Given the description of an element on the screen output the (x, y) to click on. 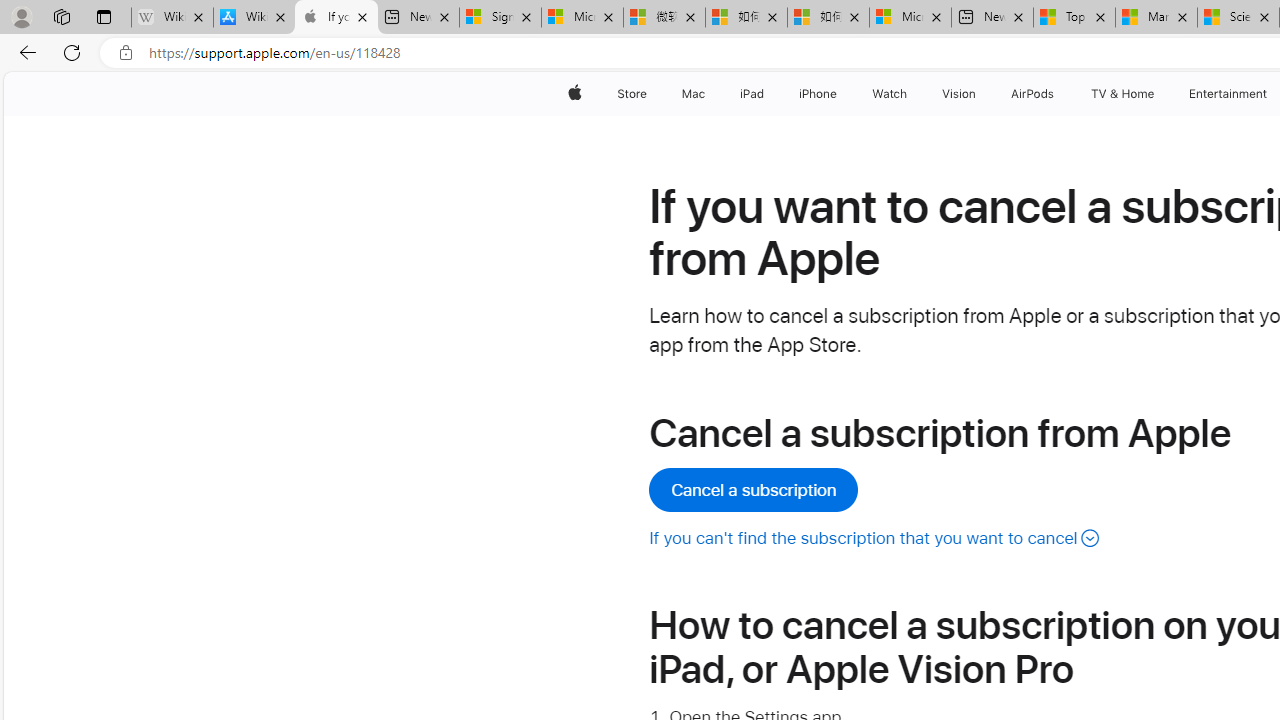
Cancel a subscription (753, 490)
AirPods (1032, 93)
Store (631, 93)
Vision menu (980, 93)
Watch menu (910, 93)
iPhone (818, 93)
AirPods (1032, 93)
Mac menu (708, 93)
